Given the description of an element on the screen output the (x, y) to click on. 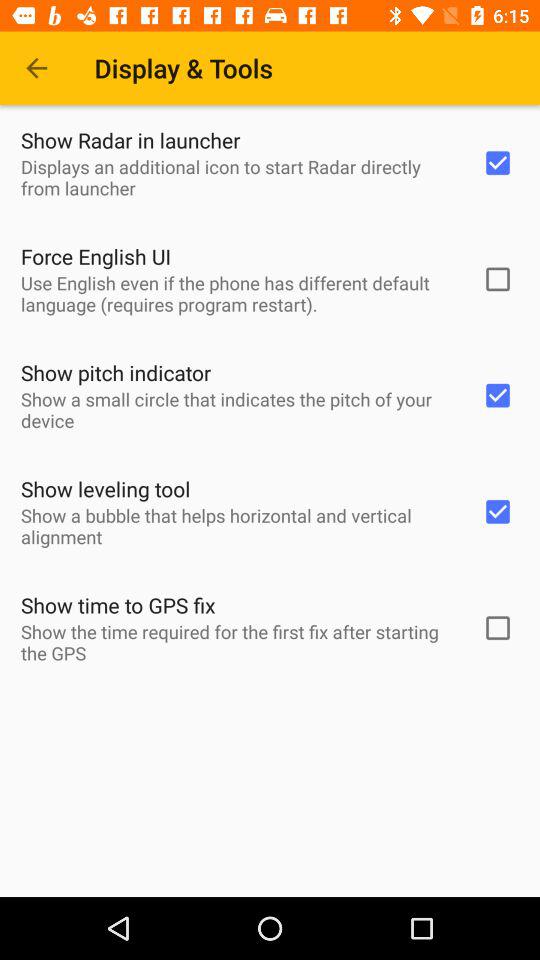
turn on icon below force english ui item (238, 293)
